Given the description of an element on the screen output the (x, y) to click on. 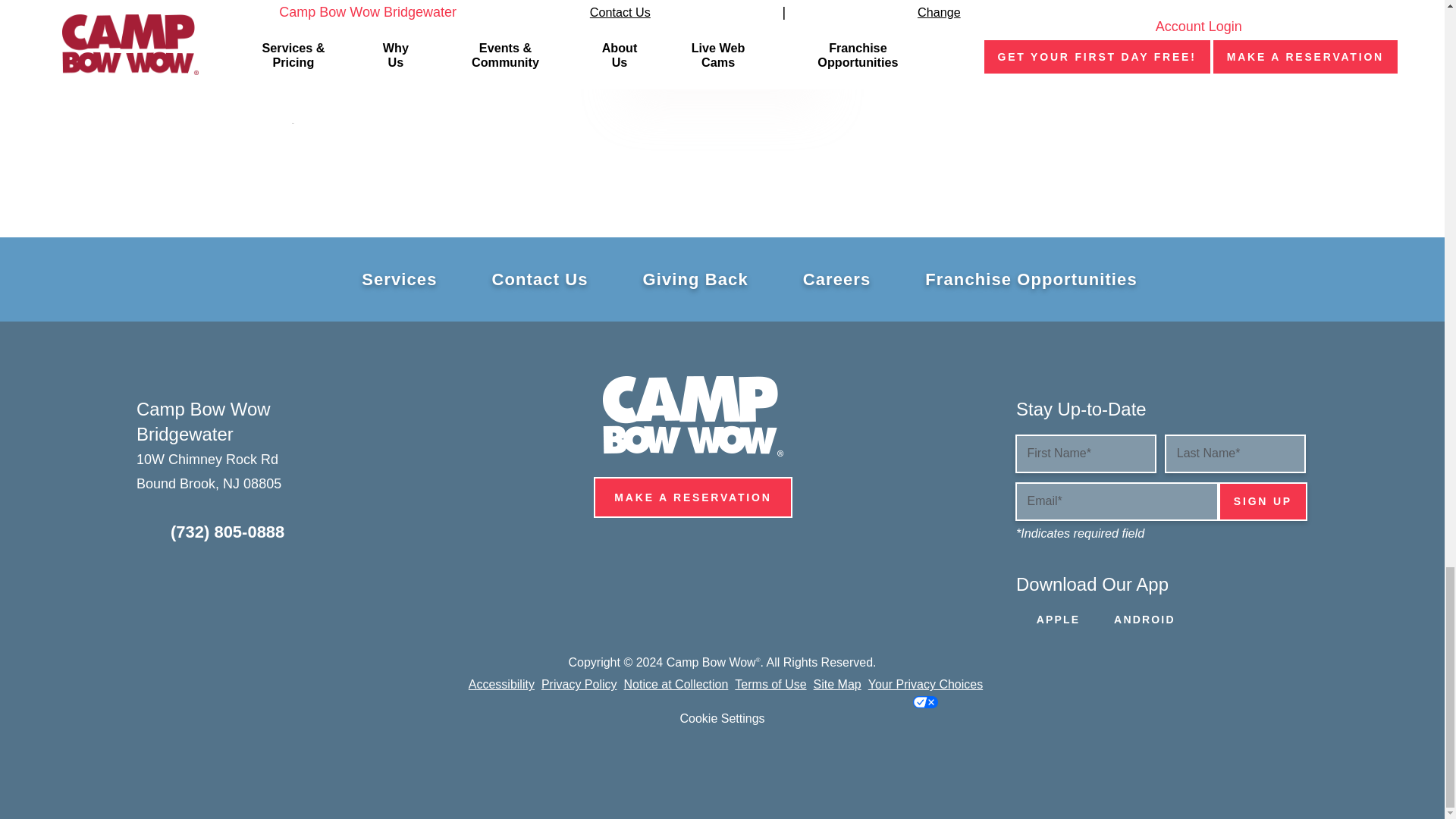
Camp Bow Wow (692, 415)
Please enter your last name. (1235, 453)
Click here to make a reservation. (722, 44)
Please enter your email address. (1116, 501)
Please enter your first name. (1085, 453)
Click here to make a reservation. (693, 496)
